Given the description of an element on the screen output the (x, y) to click on. 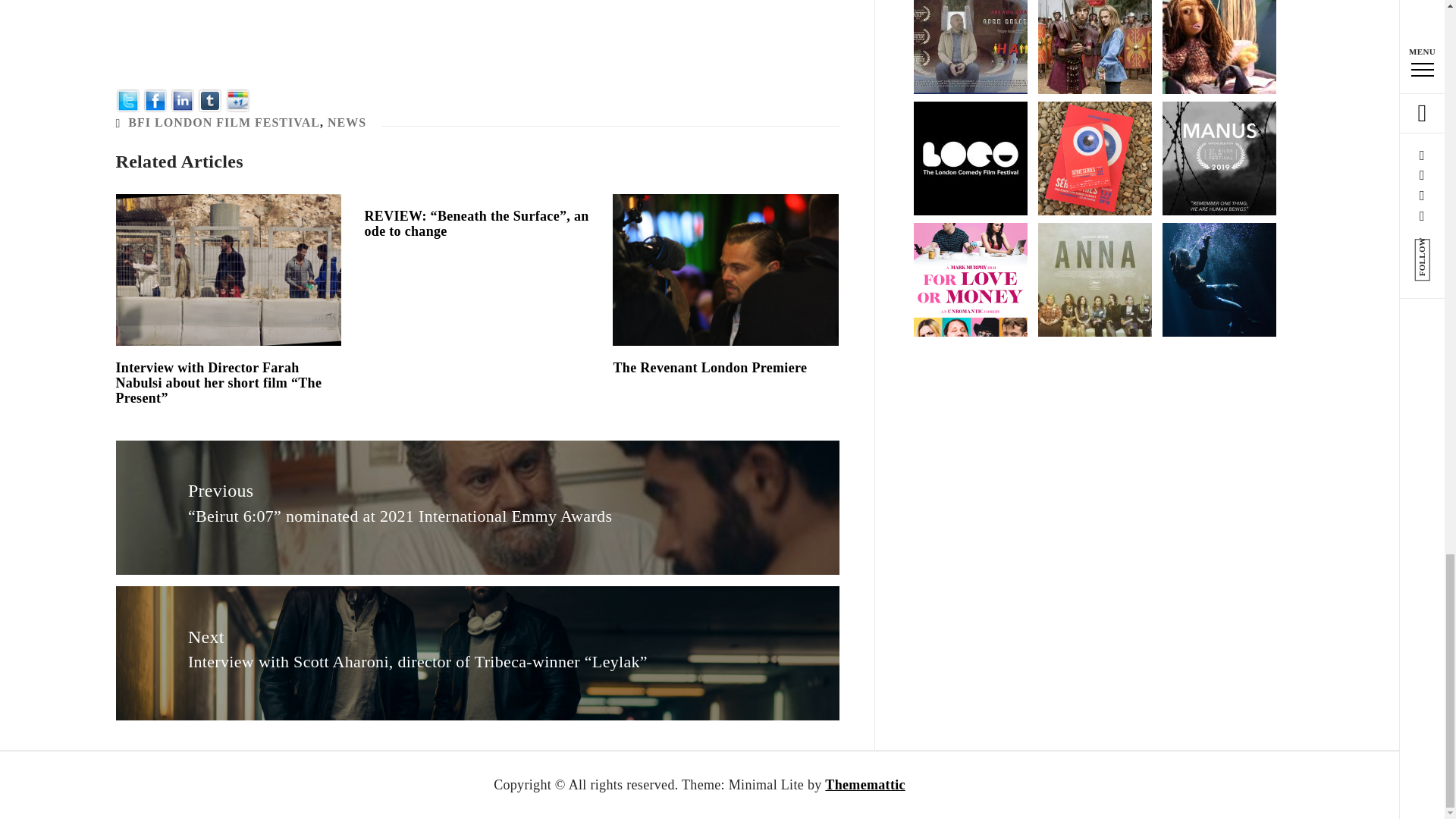
The Revenant London Premiere (709, 367)
Plusone (237, 98)
Facebook (154, 98)
BFI LONDON FILM FESTIVAL (224, 122)
Twitter (127, 98)
Tumblr (210, 98)
NEWS (346, 122)
Linkedin (182, 98)
